Given the description of an element on the screen output the (x, y) to click on. 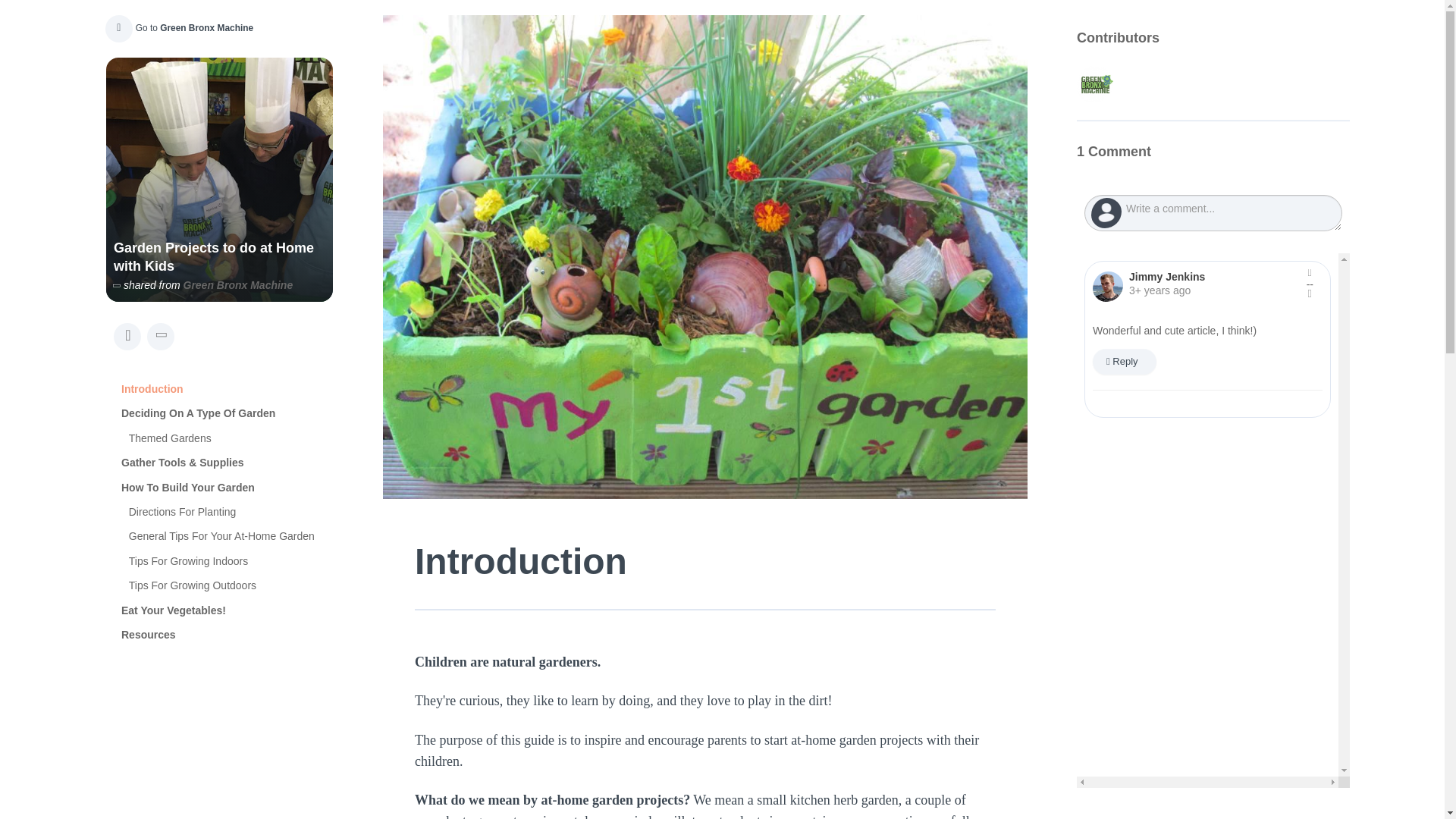
Resources (226, 634)
Introduction (226, 388)
Directions For Planting (231, 511)
How To Build Your Garden (226, 487)
Eat Your Vegetables! (226, 610)
Share (127, 336)
Deciding On A Type Of Garden (226, 412)
Tips For Growing Indoors (231, 560)
Green Bronx Machine (238, 285)
  Go to Green Bronx Machine (177, 27)
Reply (1124, 361)
General Tips For Your At-Home Garden (231, 535)
Jimmy Jenkins (1107, 286)
Add to... (160, 336)
Themed Gardens (231, 437)
